Given the description of an element on the screen output the (x, y) to click on. 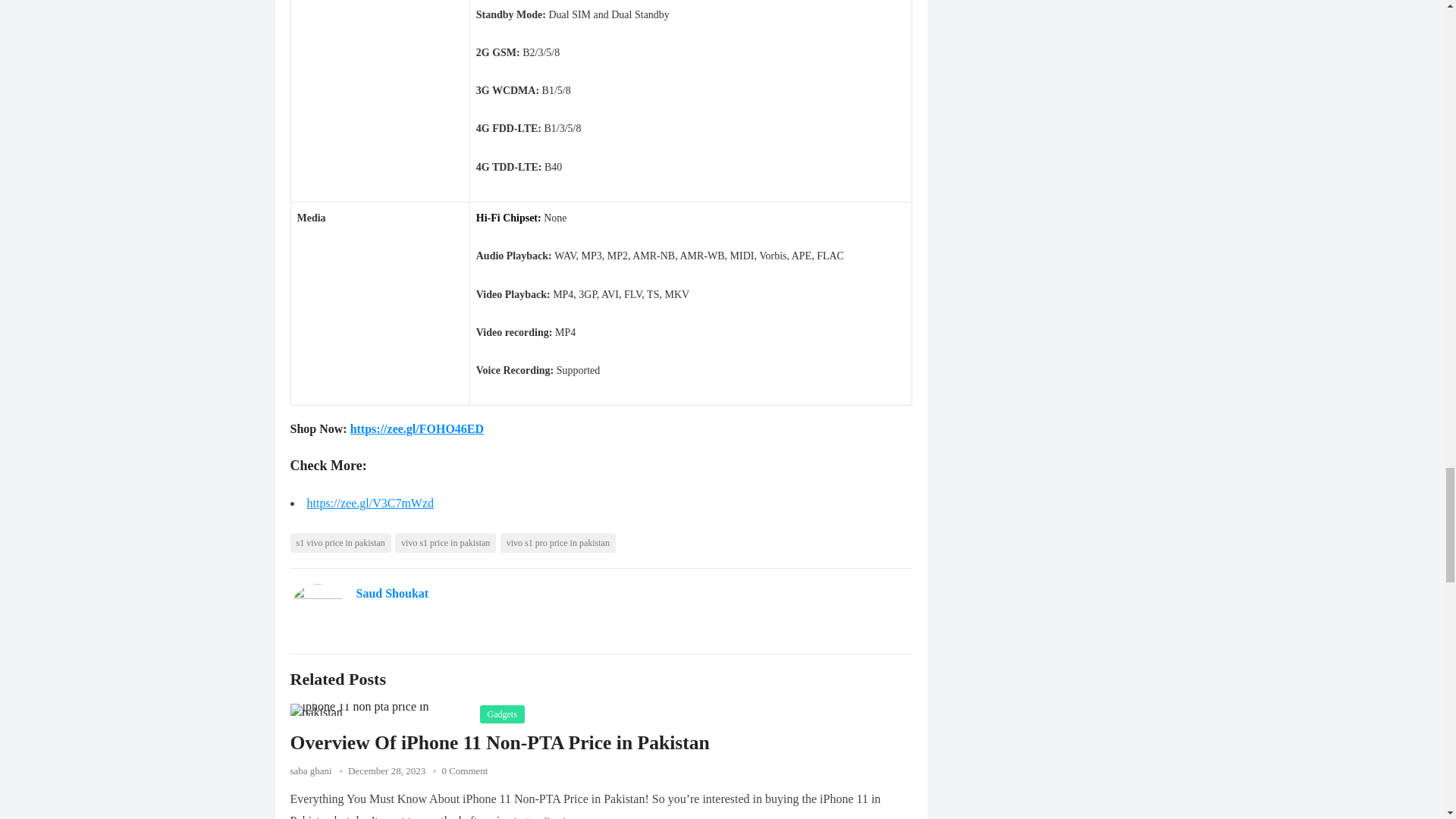
Posts by saba ghani (310, 770)
